Given the description of an element on the screen output the (x, y) to click on. 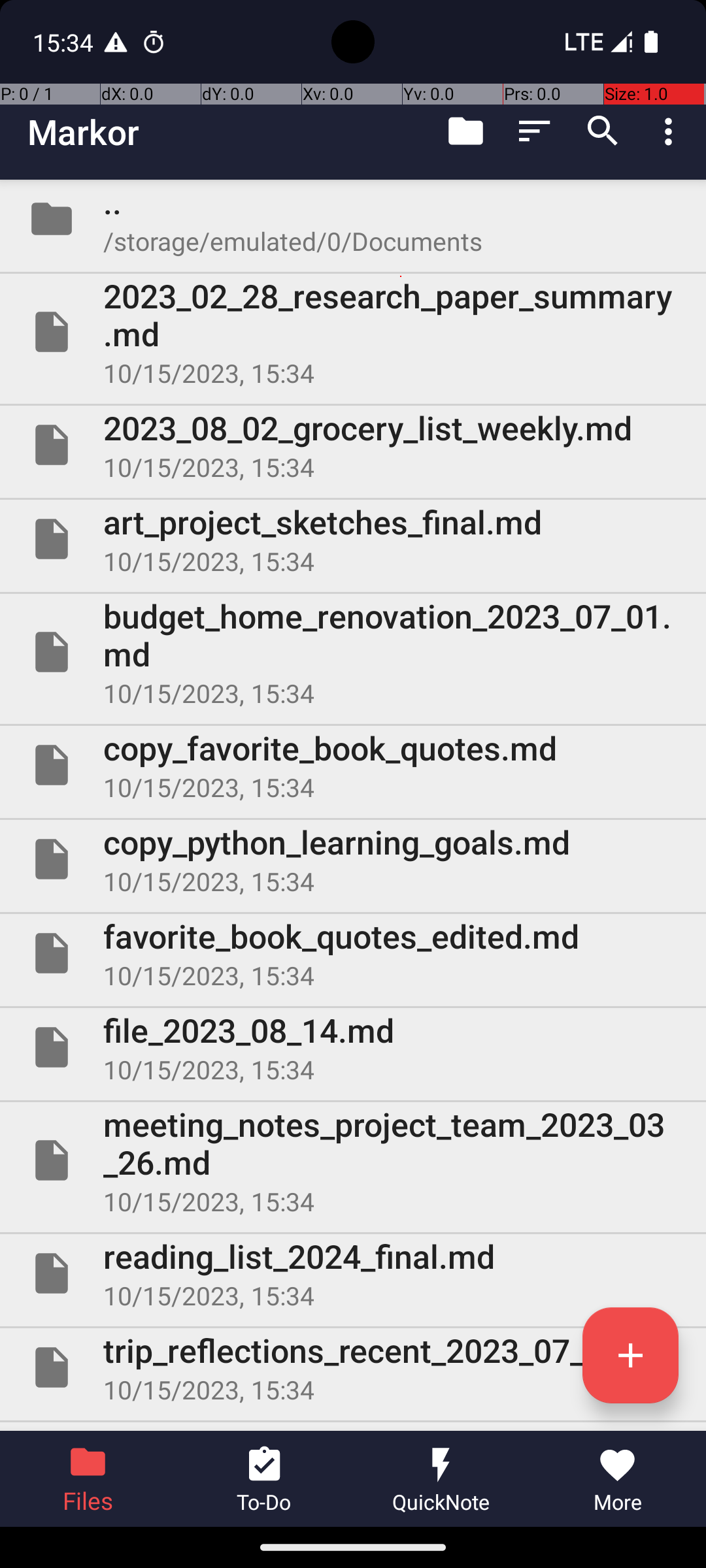
File 2023_02_28_research_paper_summary.md  Element type: android.widget.LinearLayout (353, 331)
File 2023_08_02_grocery_list_weekly.md  Element type: android.widget.LinearLayout (353, 444)
File art_project_sketches_final.md  Element type: android.widget.LinearLayout (353, 538)
File budget_home_renovation_2023_07_01.md  Element type: android.widget.LinearLayout (353, 651)
File copy_favorite_book_quotes.md  Element type: android.widget.LinearLayout (353, 764)
File copy_python_learning_goals.md  Element type: android.widget.LinearLayout (353, 858)
File favorite_book_quotes_edited.md  Element type: android.widget.LinearLayout (353, 953)
File file_2023_08_14.md  Element type: android.widget.LinearLayout (353, 1047)
File meeting_notes_project_team_2023_03_26.md  Element type: android.widget.LinearLayout (353, 1160)
File reading_list_2024_final.md  Element type: android.widget.LinearLayout (353, 1273)
File trip_reflections_recent_2023_07_04.md  Element type: android.widget.LinearLayout (353, 1367)
File upcoming_presentation_outline_NXic.md  Element type: android.widget.LinearLayout (353, 1426)
